Given the description of an element on the screen output the (x, y) to click on. 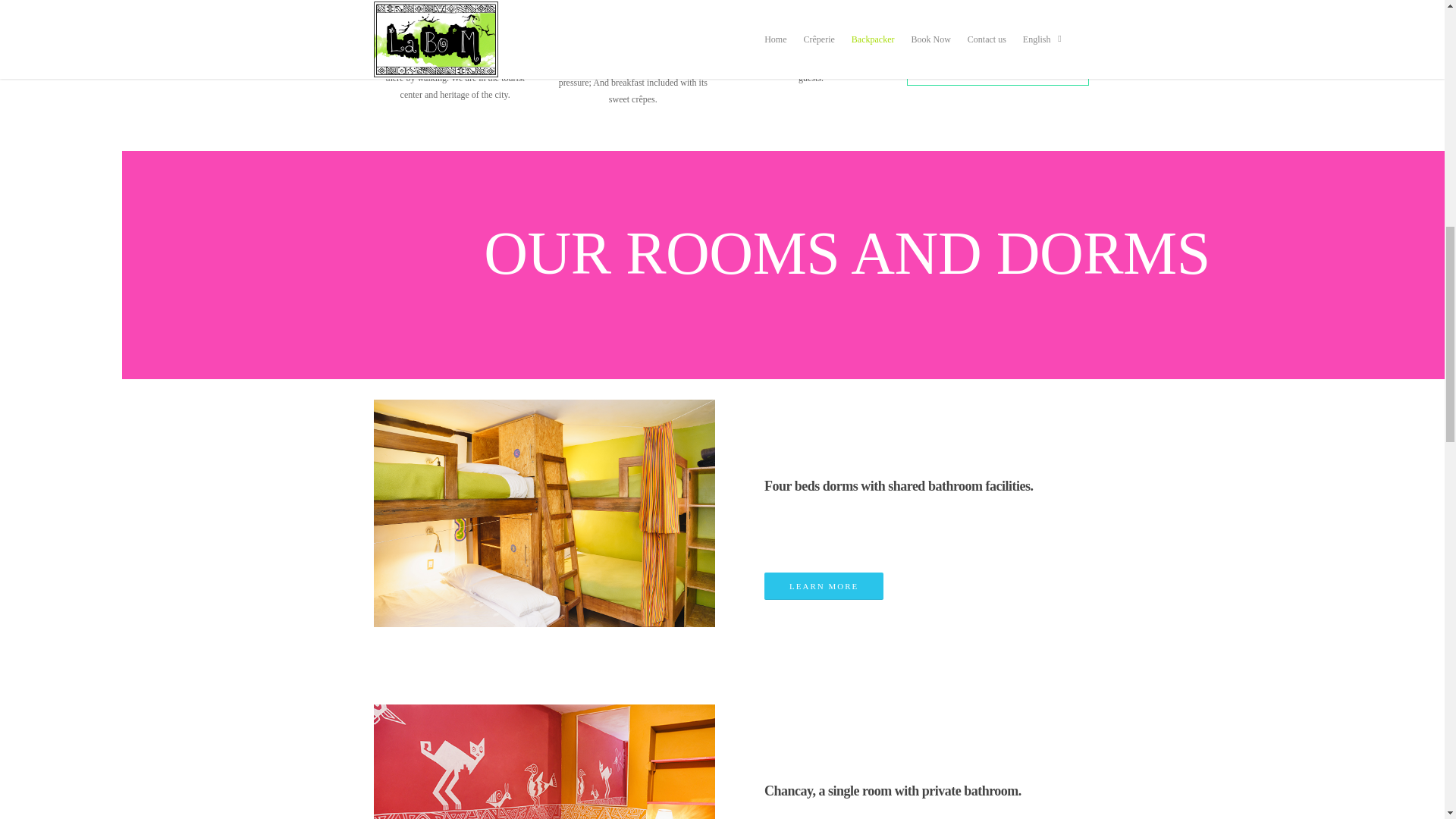
Write a review (1007, 66)
LEARN MORE (823, 585)
Read reviews (942, 66)
